Given the description of an element on the screen output the (x, y) to click on. 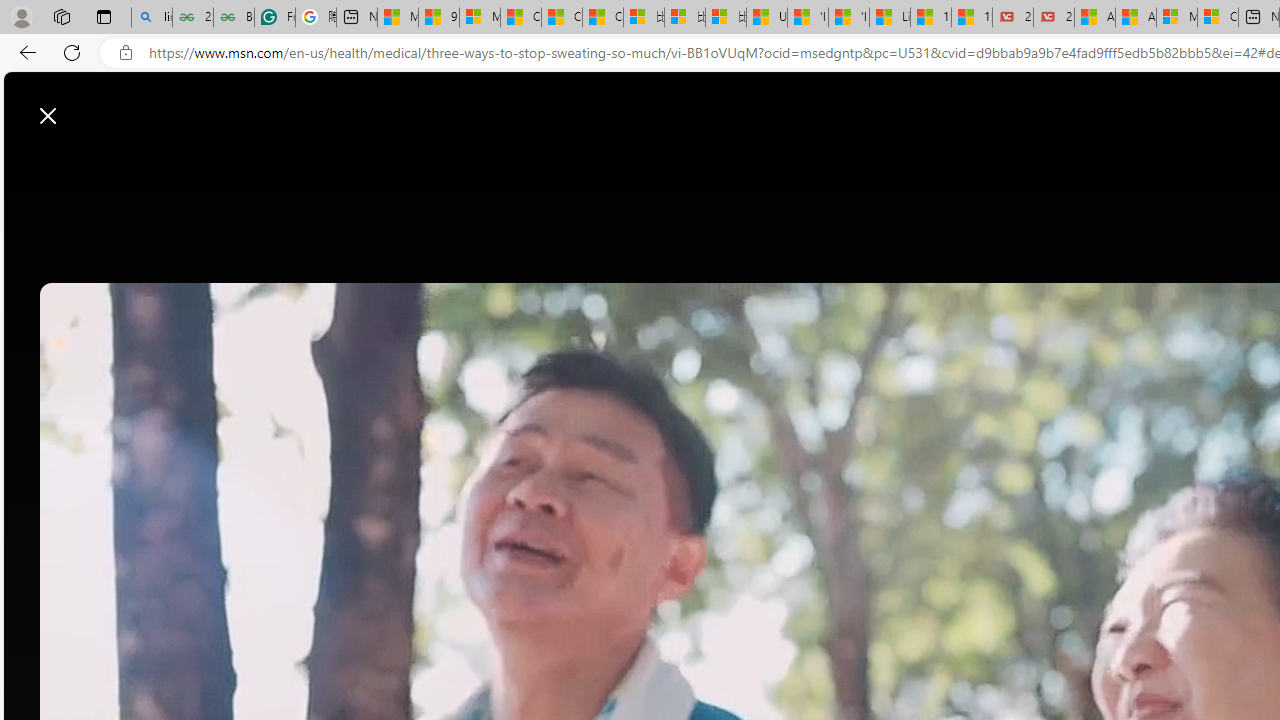
15 Ways Modern Life Contradicts the Teachings of Jesus (971, 17)
Class: control icon-only (47, 115)
